Given the description of an element on the screen output the (x, y) to click on. 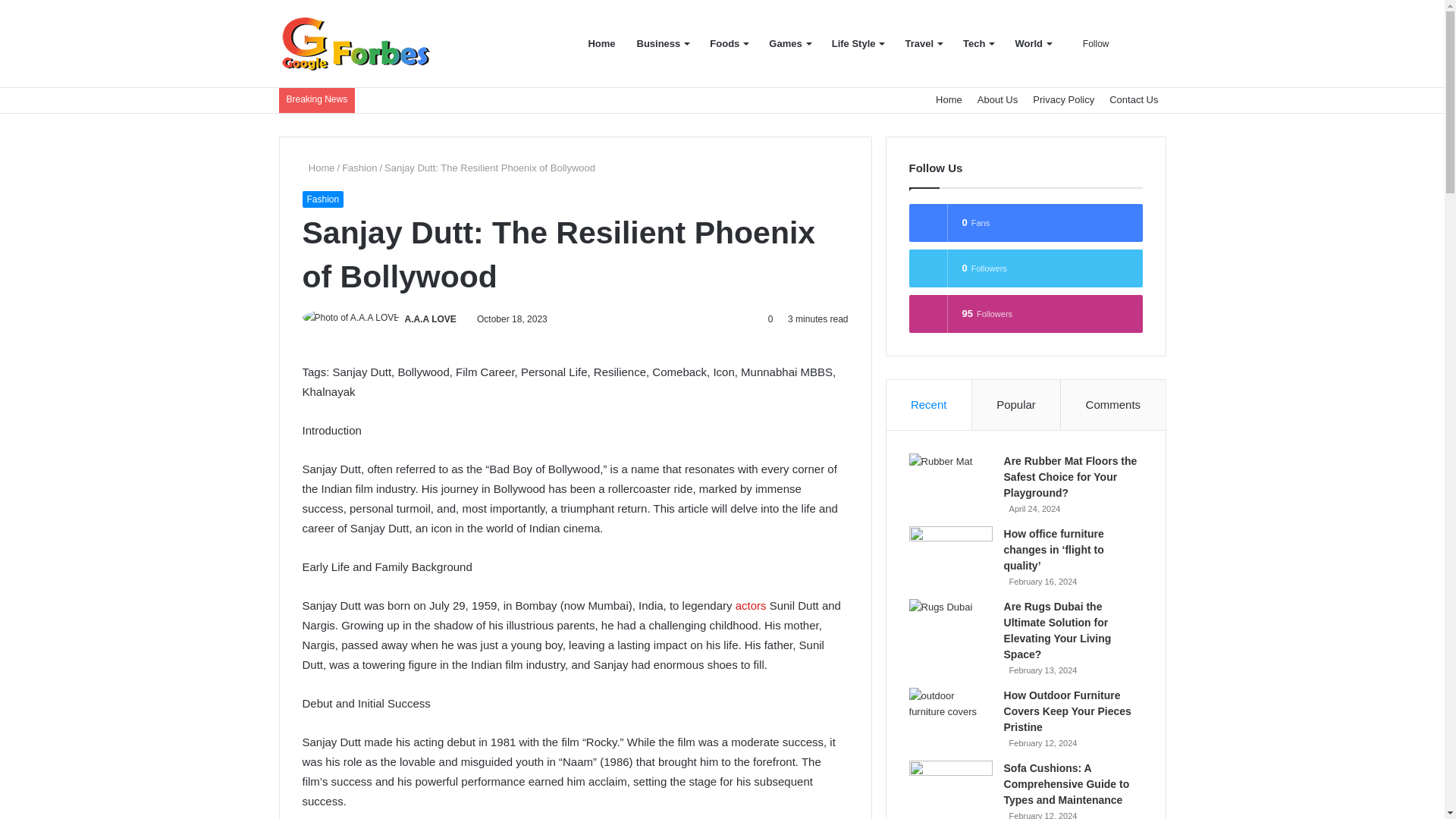
Privacy Policy (1063, 99)
Fashion (322, 199)
Home (317, 167)
About Us (997, 99)
A.A.A LOVE (430, 318)
Home (948, 99)
A.A.A LOVE (430, 318)
actors (751, 604)
Contact Us (1134, 99)
Fashion (359, 167)
